Given the description of an element on the screen output the (x, y) to click on. 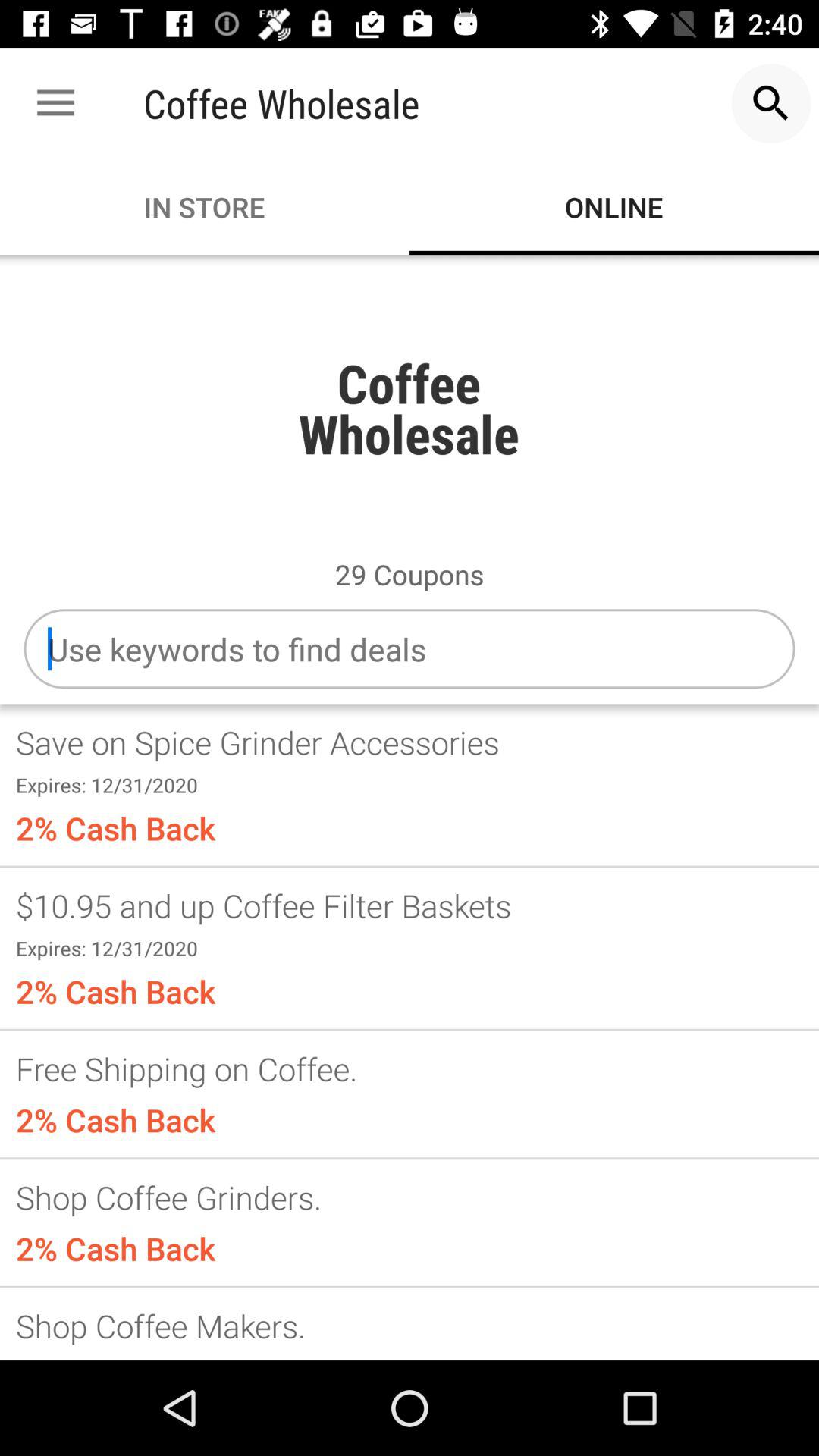
press the item to the right of coffee wholesale item (771, 103)
